Given the description of an element on the screen output the (x, y) to click on. 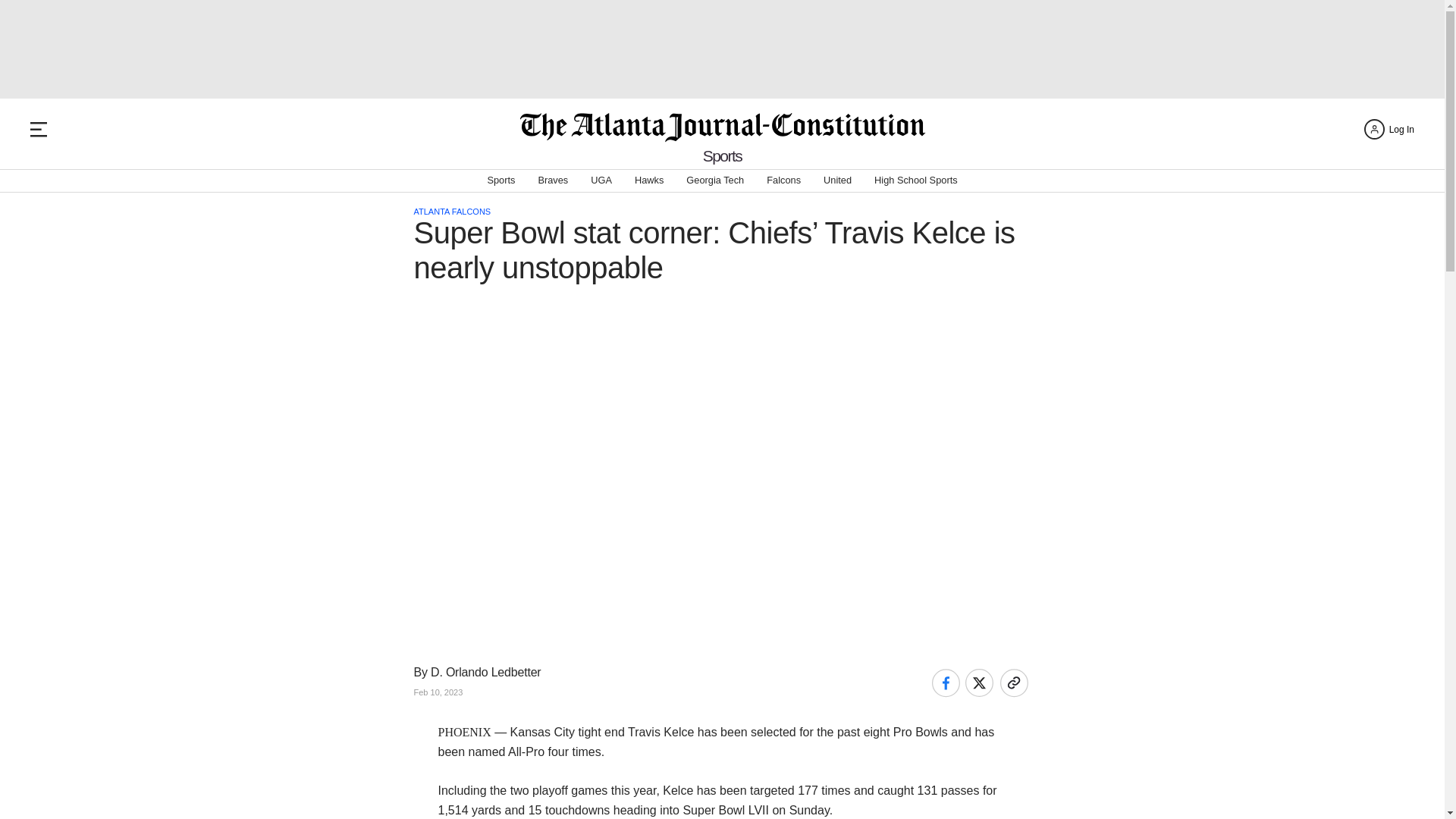
Georgia Tech (714, 180)
United (837, 180)
Braves (552, 180)
High School Sports (916, 180)
Hawks (648, 180)
Falcons (783, 180)
Sports (500, 180)
Sports (722, 155)
UGA (601, 180)
